Given the description of an element on the screen output the (x, y) to click on. 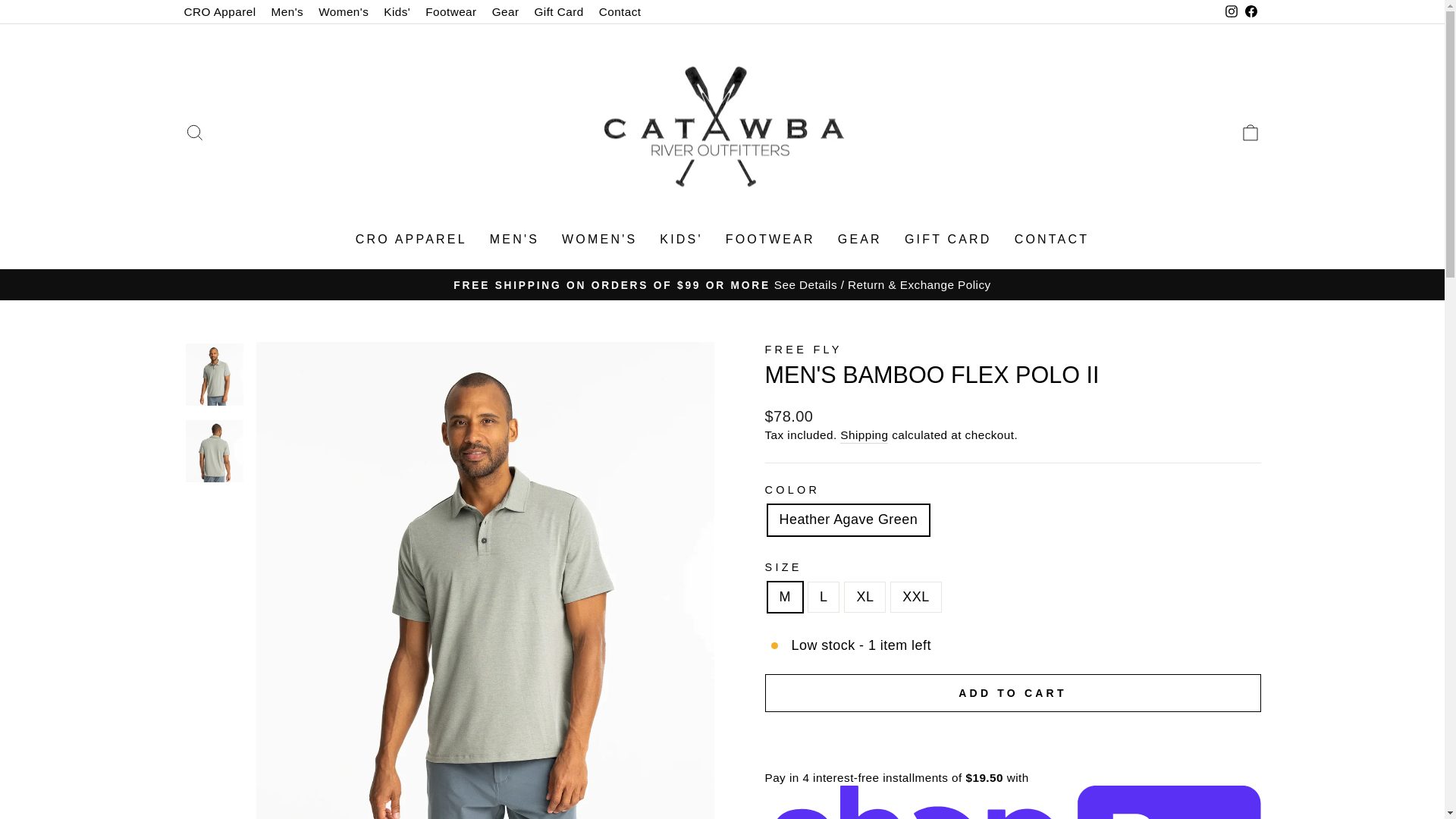
ICON-SEARCH (194, 132)
Gear (505, 11)
Footwear (450, 11)
Men's (287, 11)
Contact (620, 11)
XL (1249, 132)
CRO APPAREL (598, 239)
